Given the description of an element on the screen output the (x, y) to click on. 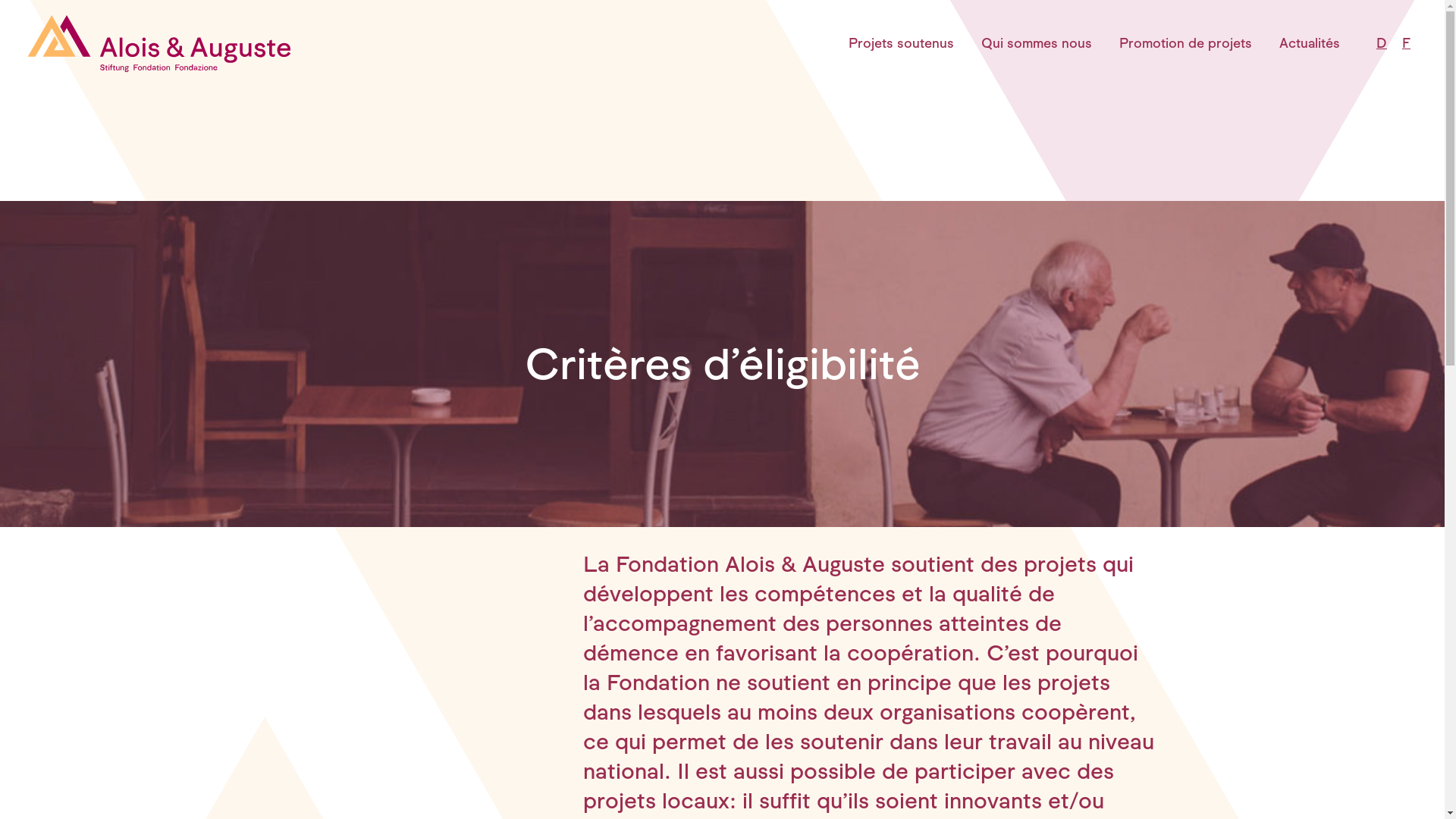
D Element type: text (1381, 42)
F Element type: text (1406, 42)
Promotion de projets Element type: text (1185, 43)
Projets soutenus Element type: text (900, 43)
Qui sommes nous Element type: text (1036, 43)
